Given the description of an element on the screen output the (x, y) to click on. 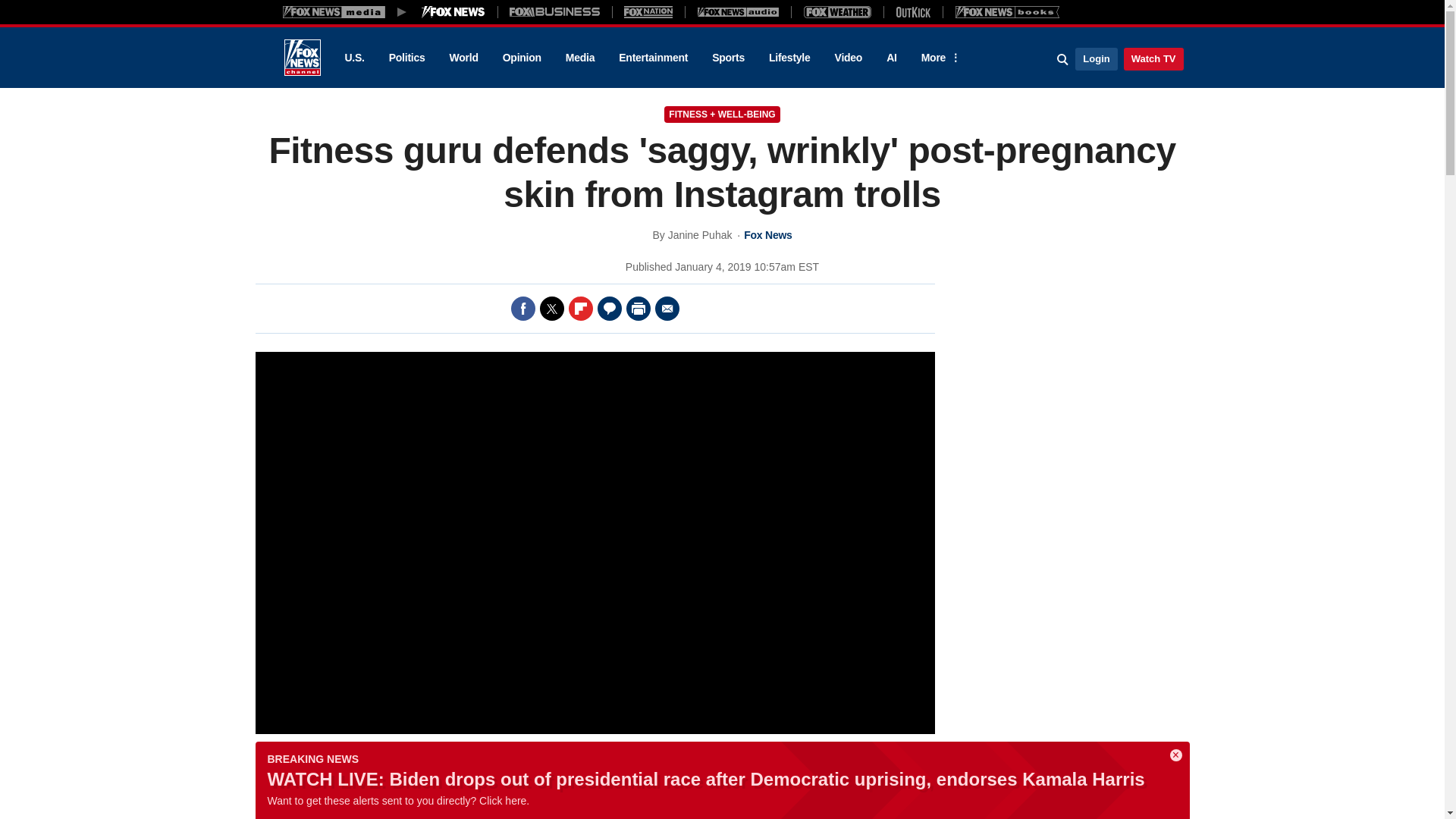
Fox News (301, 57)
Sports (728, 57)
Lifestyle (789, 57)
Fox News Audio (737, 11)
Login (1095, 58)
AI (891, 57)
Books (1007, 11)
World (464, 57)
Opinion (521, 57)
Fox Nation (648, 11)
Politics (407, 57)
U.S. (353, 57)
Media (580, 57)
Fox News Media (453, 11)
Fox Weather (836, 11)
